Given the description of an element on the screen output the (x, y) to click on. 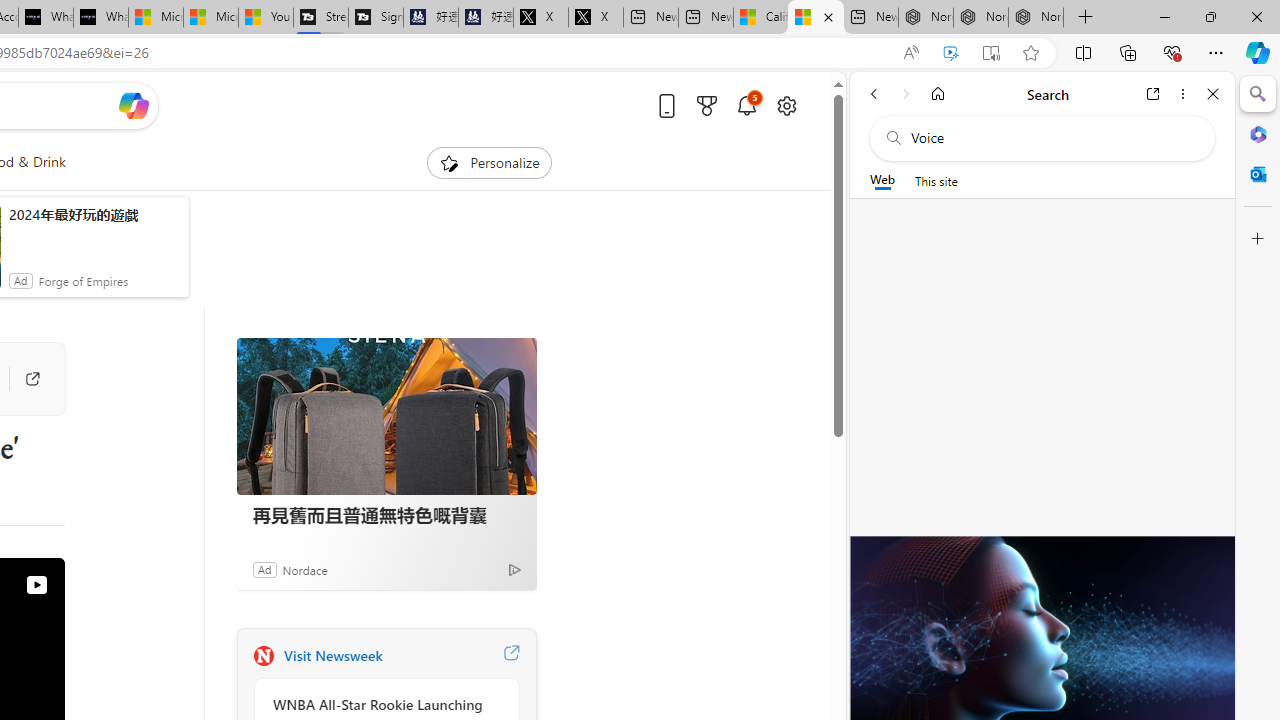
Ad Choice (514, 569)
Forge of Empires (83, 280)
Search (1258, 94)
Customize (1258, 239)
Restore (1210, 16)
Nordace (304, 569)
Open link in new tab (1153, 93)
Notifications (746, 105)
Nordace - Siena Pro 15 Essential Set (1035, 17)
Settings and more (Alt+F) (1215, 52)
What's the best AI voice generator? - voice.ai (100, 17)
